Given the description of an element on the screen output the (x, y) to click on. 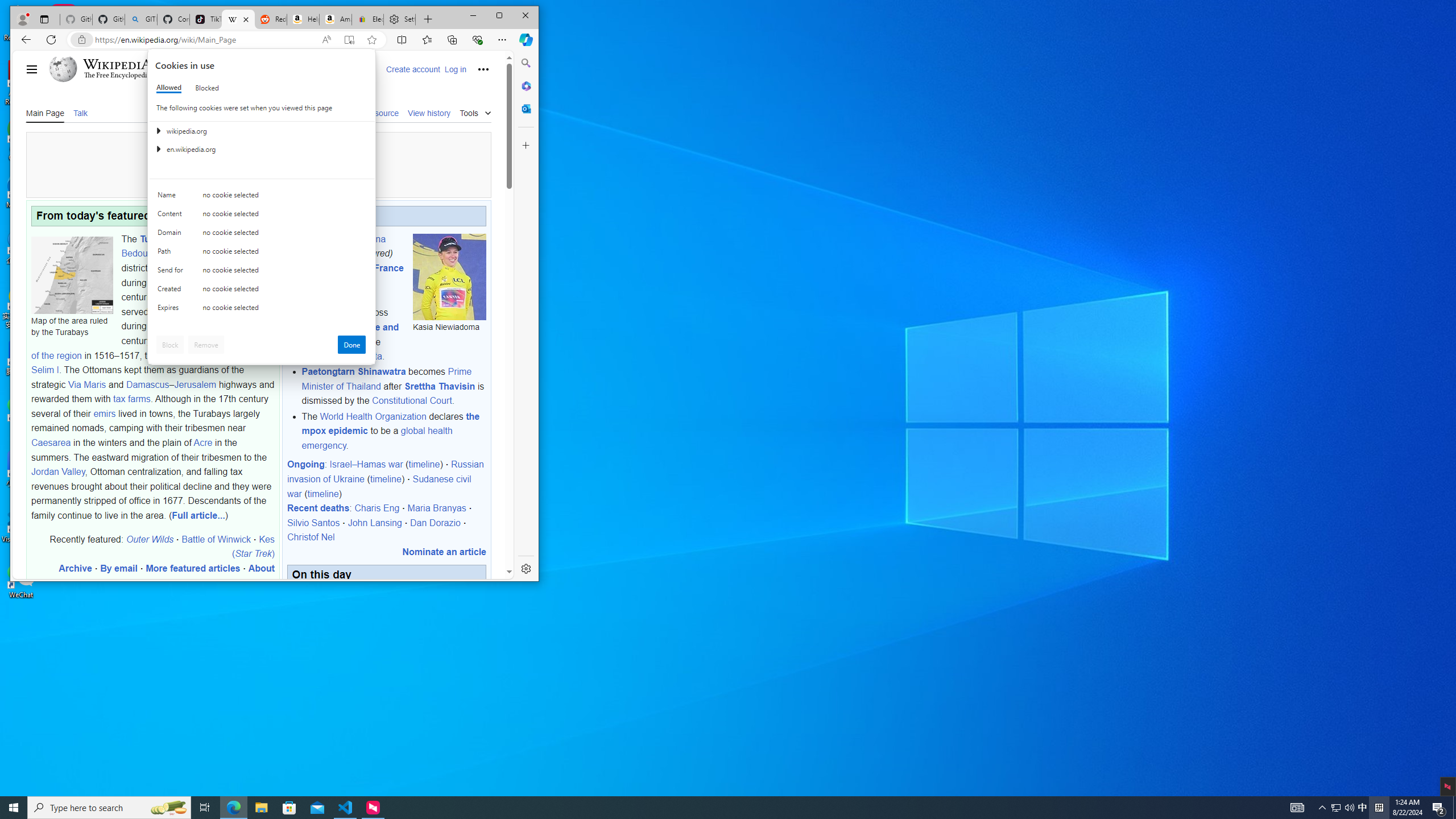
Name (172, 197)
Done (351, 344)
Class: c0153 c0157 c0154 (261, 197)
Visual Studio Code - 1 running window (345, 807)
Allowed (169, 87)
